Given the description of an element on the screen output the (x, y) to click on. 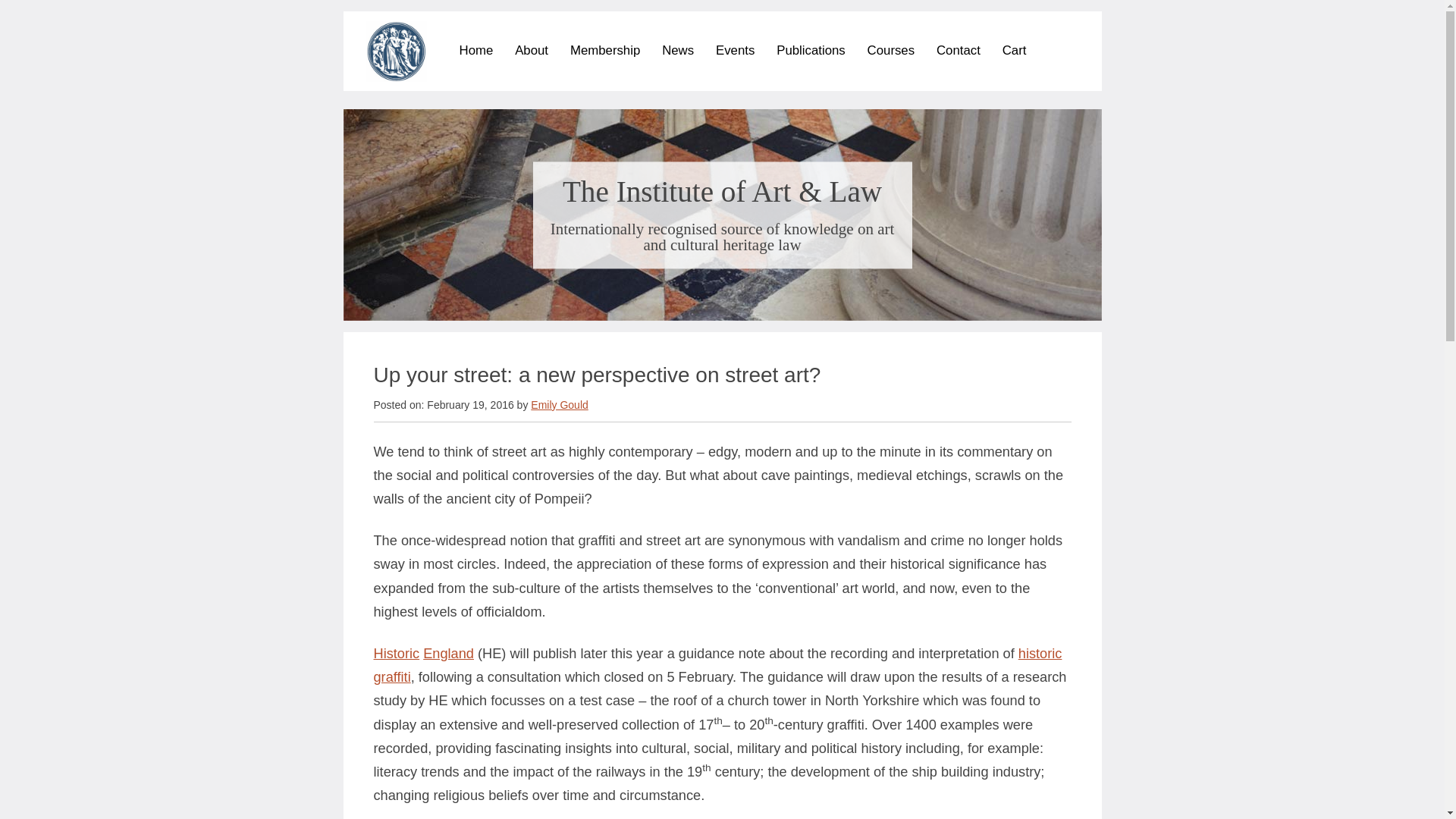
Events (735, 50)
historic graffiti (716, 665)
News (678, 50)
Emily Gould (559, 404)
Publications (810, 50)
Contact (957, 50)
Courses (891, 50)
Upcoming Events (807, 73)
Historic (395, 653)
Posts by Emily Gould (559, 404)
England (448, 653)
Cart (1014, 50)
About (531, 50)
